Given the description of an element on the screen output the (x, y) to click on. 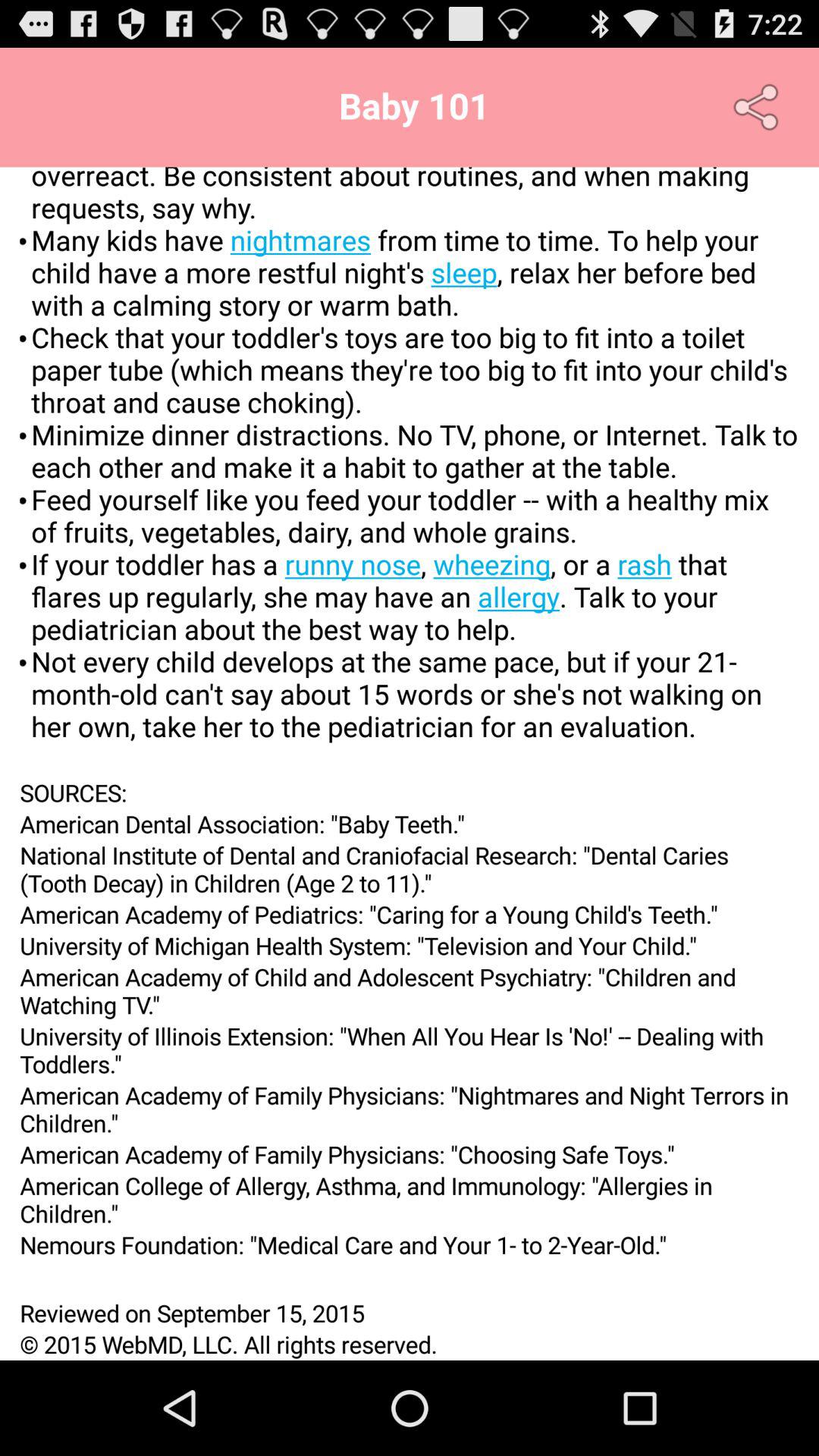
turn off app below month 21 tips item (409, 792)
